Given the description of an element on the screen output the (x, y) to click on. 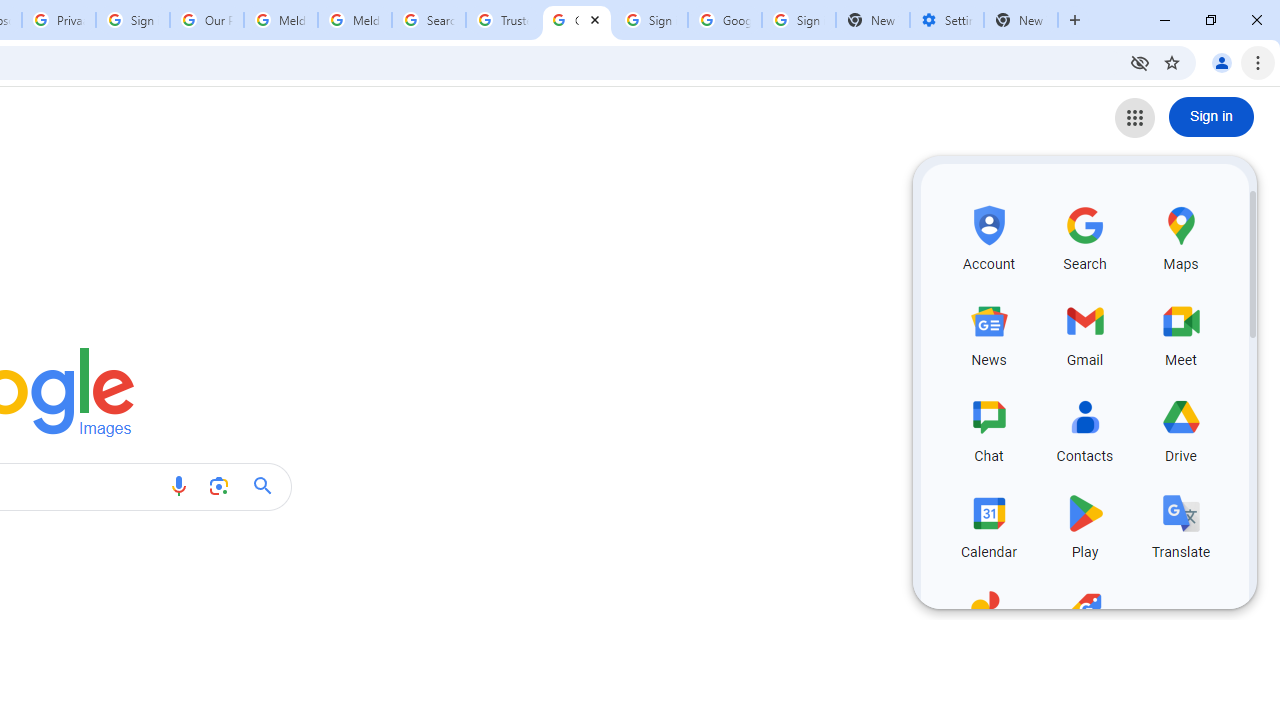
Chat, row 3 of 5 and column 1 of 3 in the first section (988, 427)
Google Images (577, 20)
Sign in - Google Accounts (133, 20)
Account, row 1 of 5 and column 1 of 3 in the first section (988, 235)
Search our Doodle Library Collection - Google Doodles (428, 20)
Sign in - Google Accounts (651, 20)
Shopping, row 5 of 5 and column 2 of 3 in the first section (1084, 619)
